Given the description of an element on the screen output the (x, y) to click on. 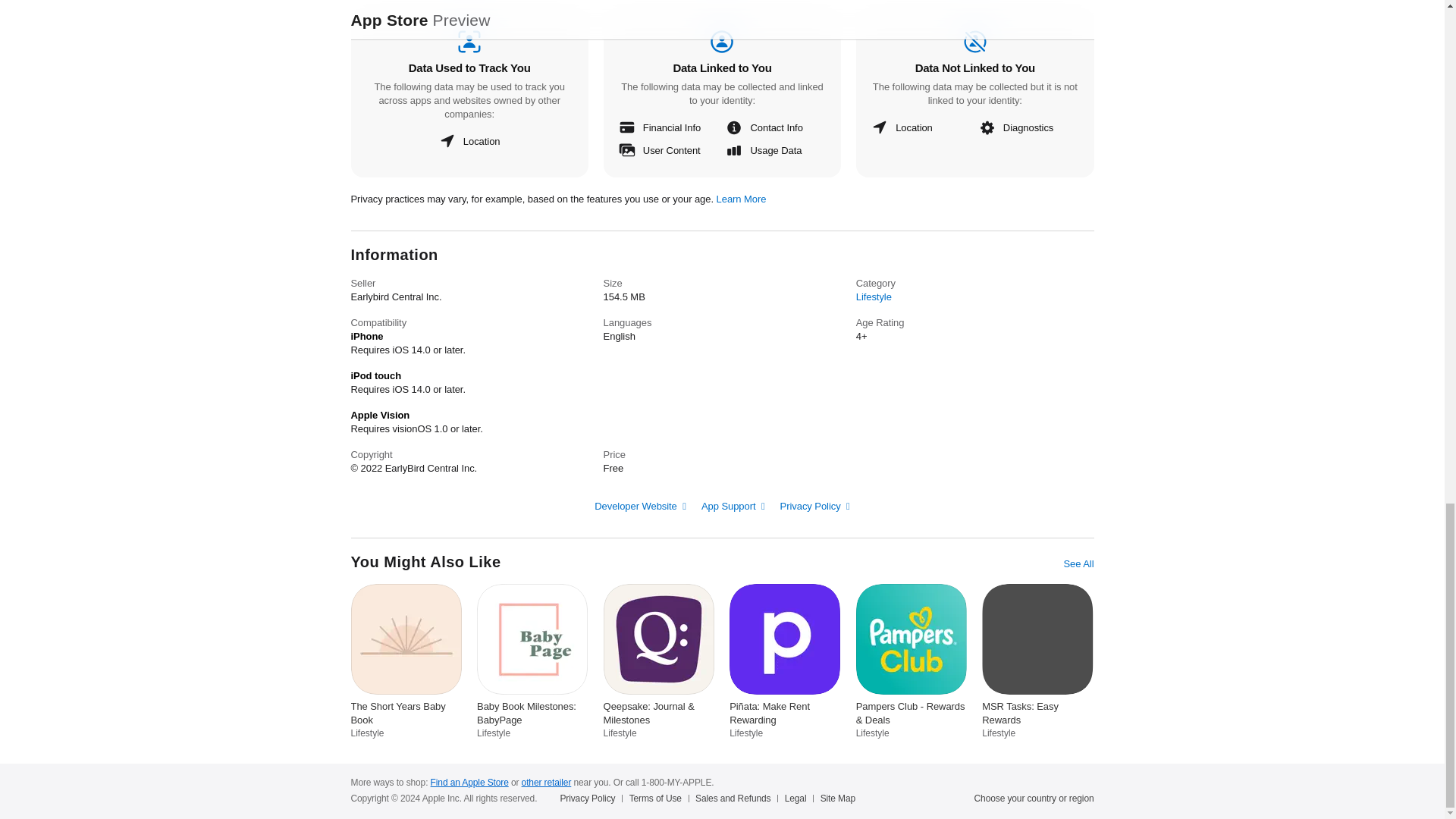
Learn More (741, 198)
Privacy Policy (815, 505)
See All (1077, 563)
Lifestyle (873, 296)
Developer Website (639, 505)
Choose your country or region (1034, 798)
App Support (733, 505)
